Given the description of an element on the screen output the (x, y) to click on. 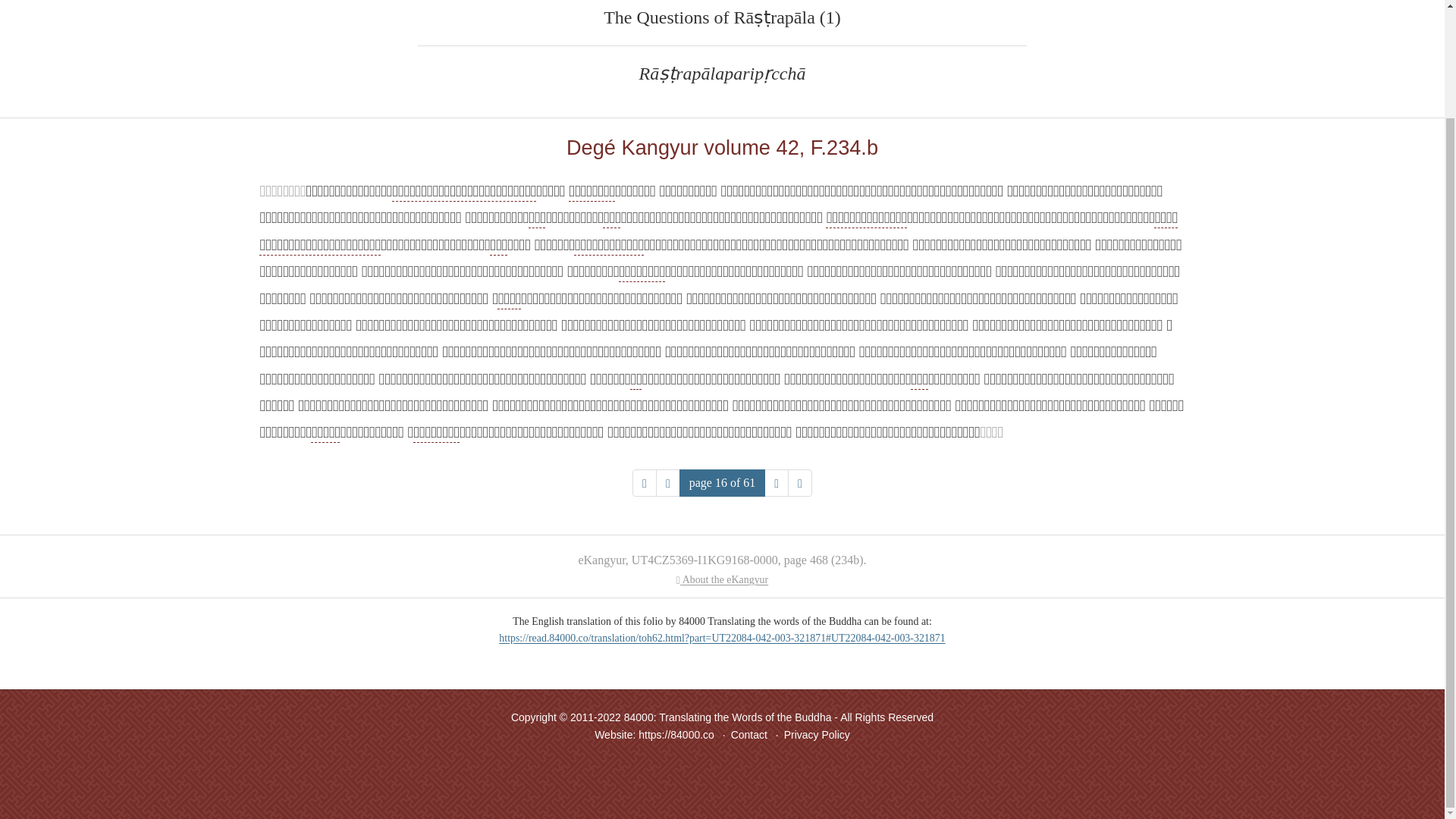
Contact (748, 734)
Privacy Policy (817, 734)
About the eKangyur (722, 579)
